Given the description of an element on the screen output the (x, y) to click on. 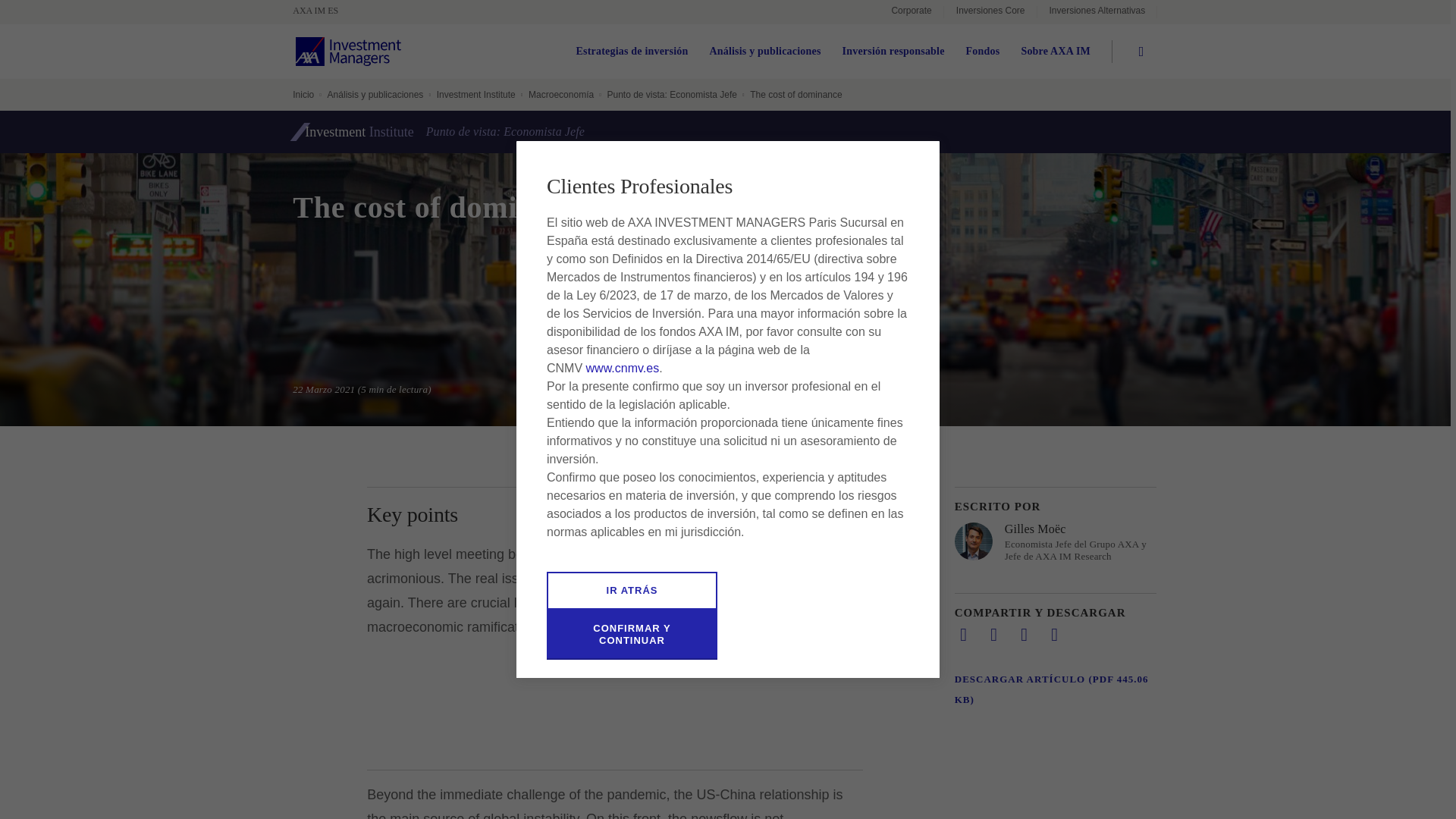
Share on LinkedIn (963, 634)
Share on twitter (994, 634)
Copy URL (1054, 634)
Home (348, 51)
CONFIRMAR Y CONTINUAR (632, 634)
Inversiones Alternativas (1096, 12)
View biography (1056, 541)
Inversiones Core (989, 12)
Shared by mail (1023, 634)
Home (322, 10)
AXA IM ES (322, 10)
Corporate (911, 12)
www.cnmv.es (622, 367)
